Given the description of an element on the screen output the (x, y) to click on. 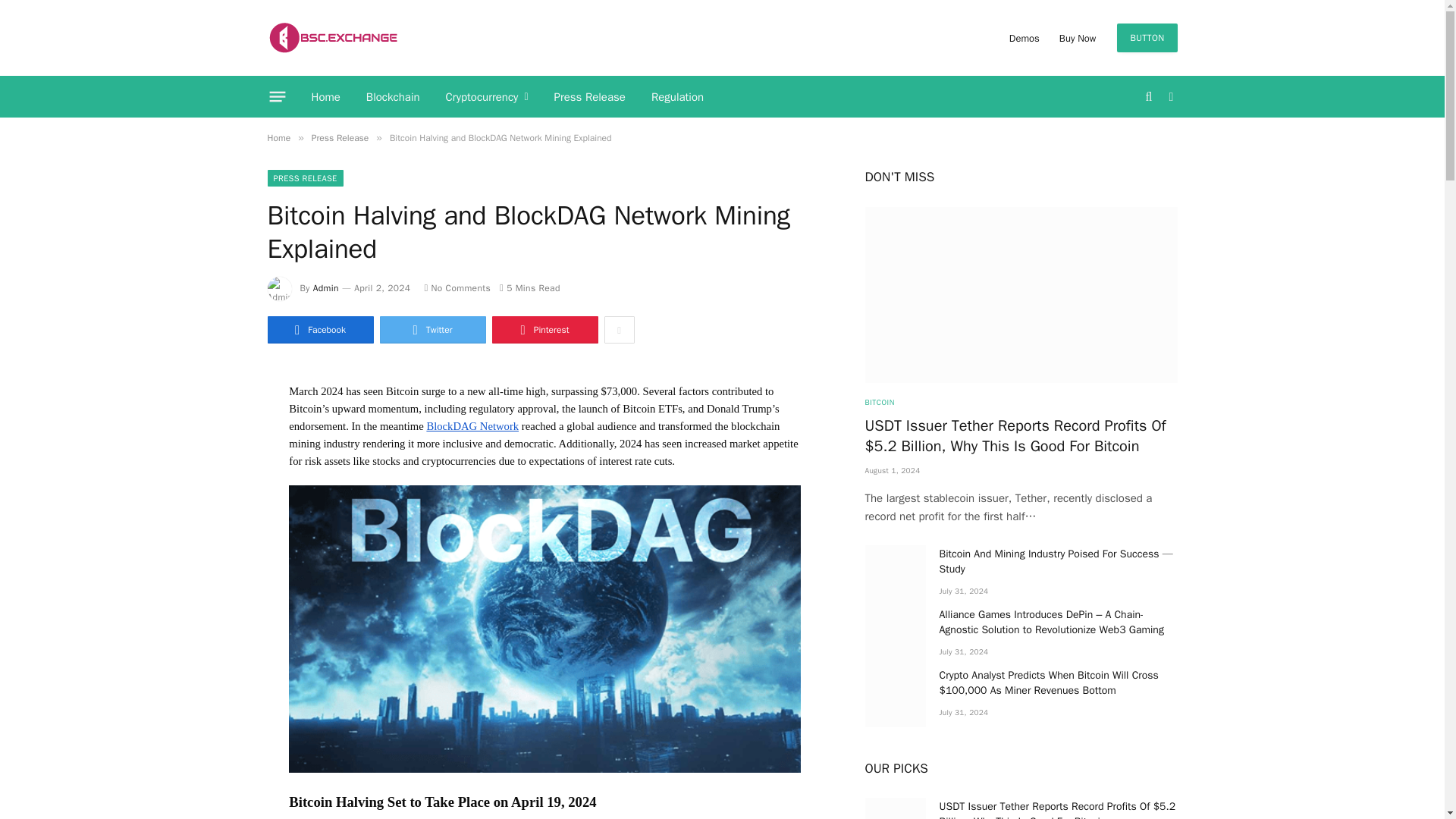
Share on Pinterest (544, 329)
Cryptocurrency (486, 96)
Twitter (431, 329)
Home (277, 137)
Switch to Dark Design - easier on eyes. (1168, 96)
Press Release (590, 96)
Pinterest (544, 329)
Press Release (340, 137)
Home (325, 96)
Admin (326, 287)
No Comments (456, 287)
BUTTON (1146, 37)
PRESS RELEASE (304, 177)
Posts by Admin (326, 287)
Bsc.exchange (332, 37)
